Given the description of an element on the screen output the (x, y) to click on. 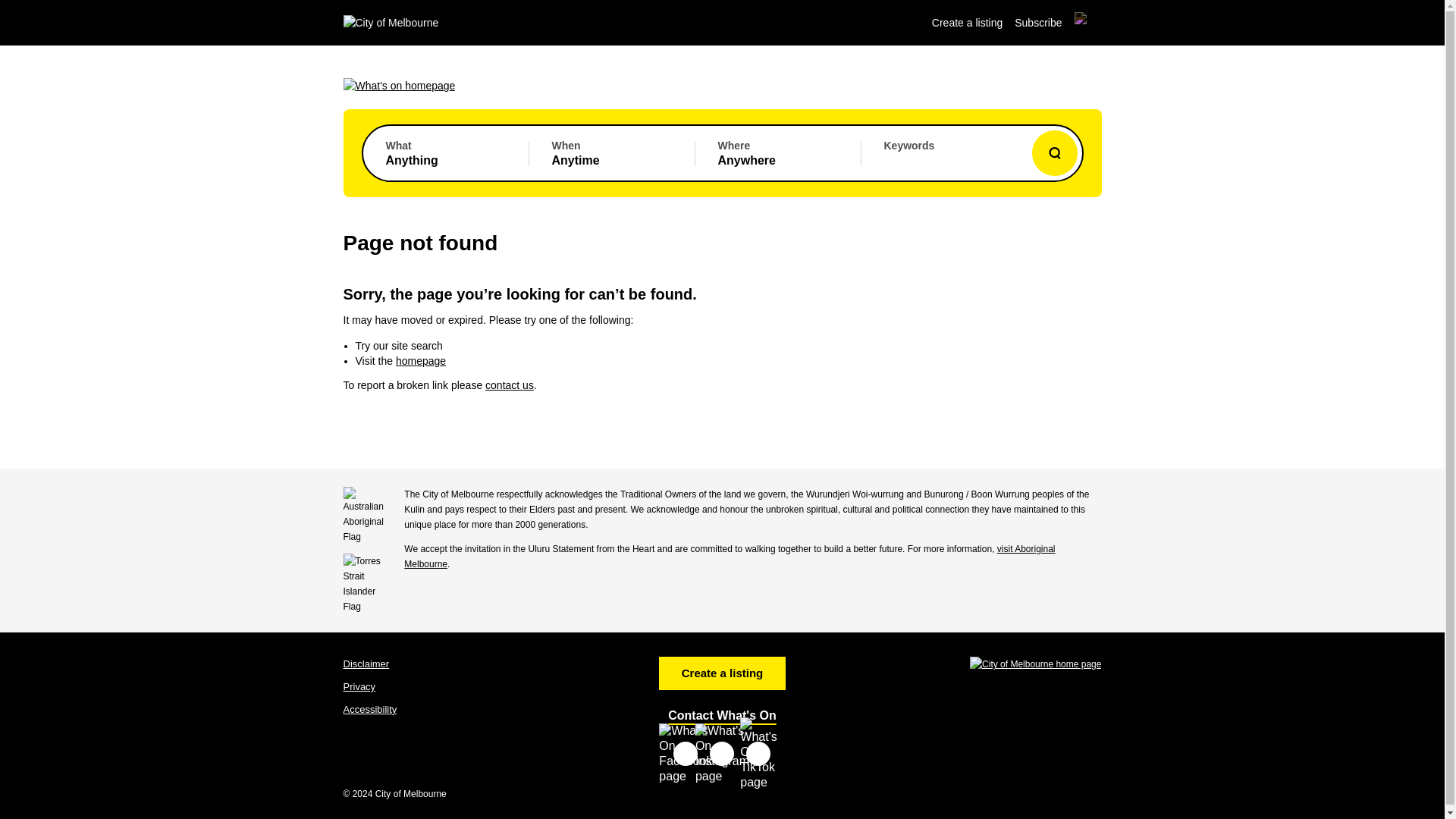
visit Aboriginal Melbourne (729, 556)
Create a listing (722, 673)
Create a listing (444, 152)
Privacy (967, 22)
Contact What's On (358, 686)
contact us (722, 715)
homepage (509, 385)
Subscribe (611, 152)
